Given the description of an element on the screen output the (x, y) to click on. 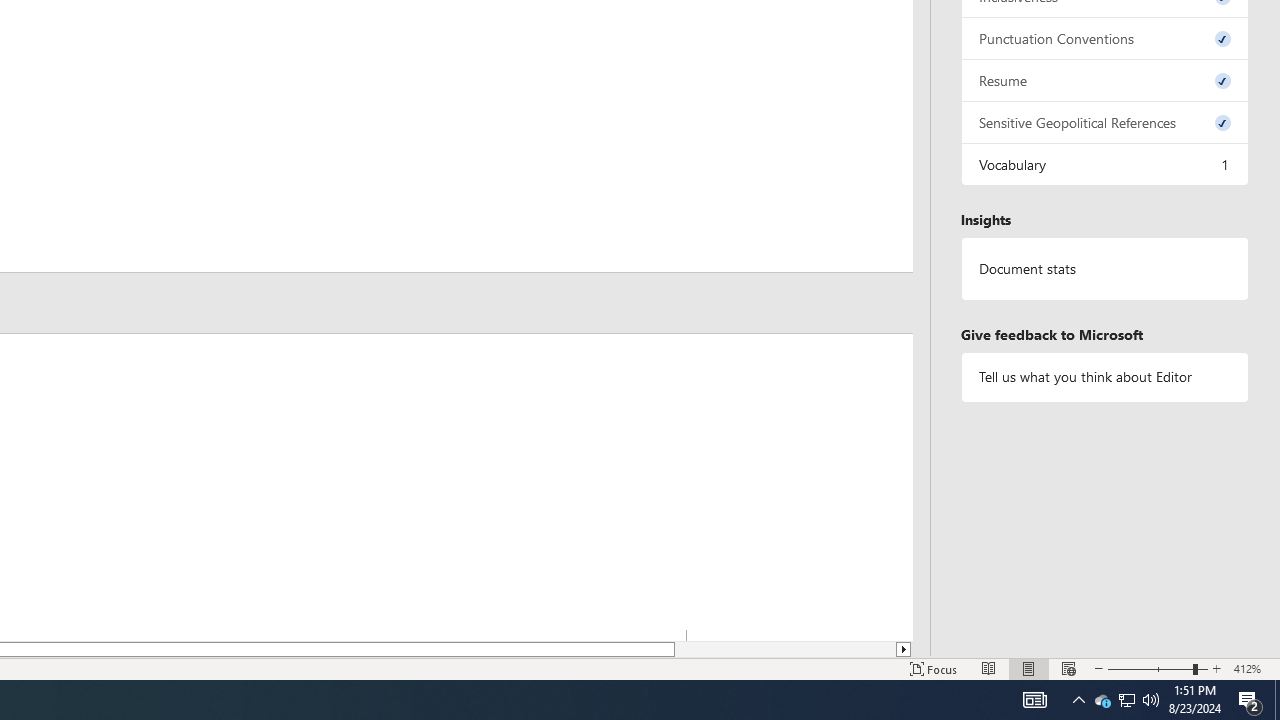
Resume, 0 issues. Press space or enter to review items. (1105, 79)
Tell us what you think about Editor (1105, 376)
Page right (785, 649)
Column right (904, 649)
Vocabulary, 1 issue. Press space or enter to review items. (1105, 164)
Document statistics (1105, 269)
Zoom (1158, 668)
